Given the description of an element on the screen output the (x, y) to click on. 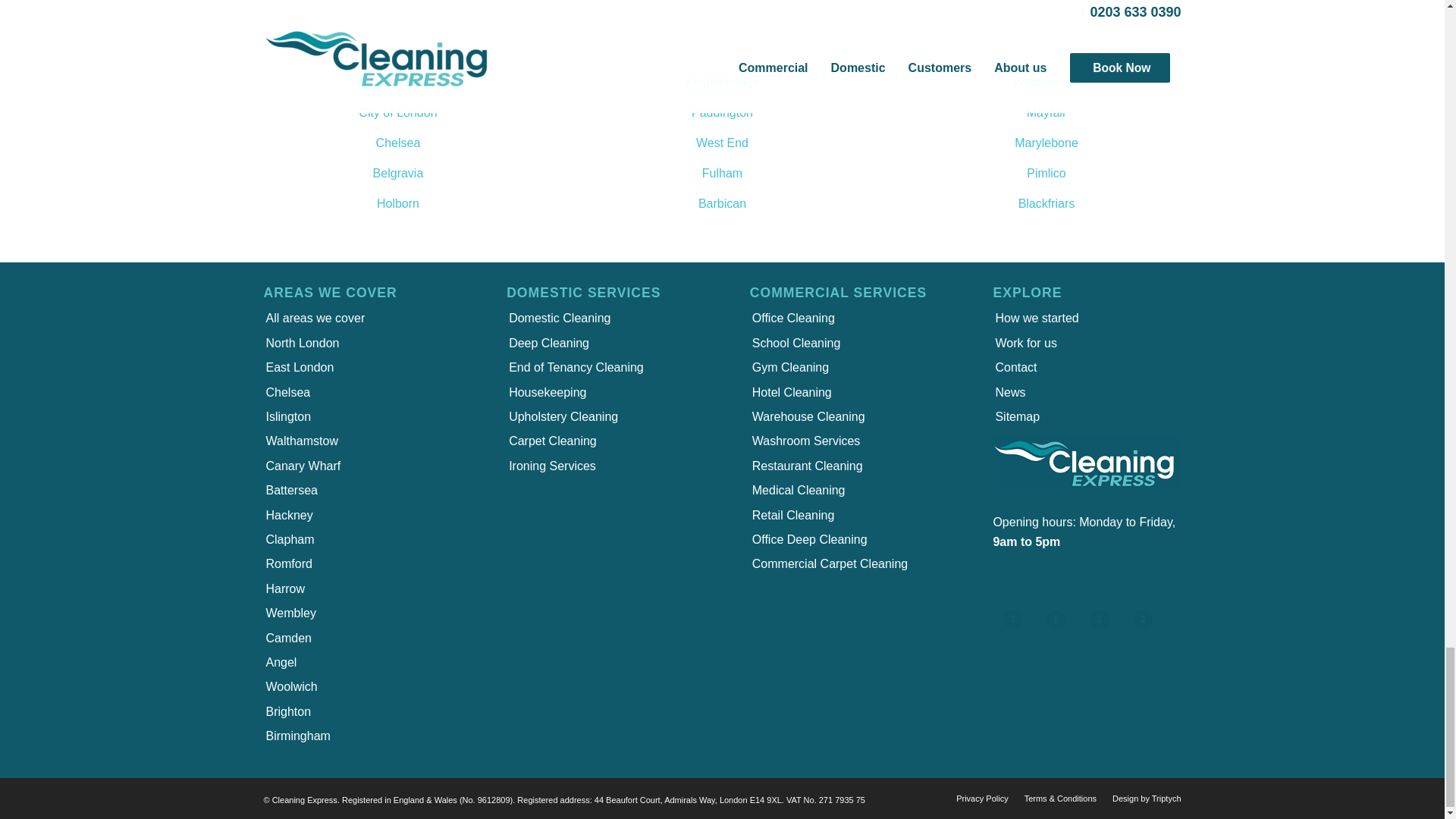
List Title 1 (1023, 629)
List Title 3 (1109, 629)
List Title 2 (1065, 629)
